Given the description of an element on the screen output the (x, y) to click on. 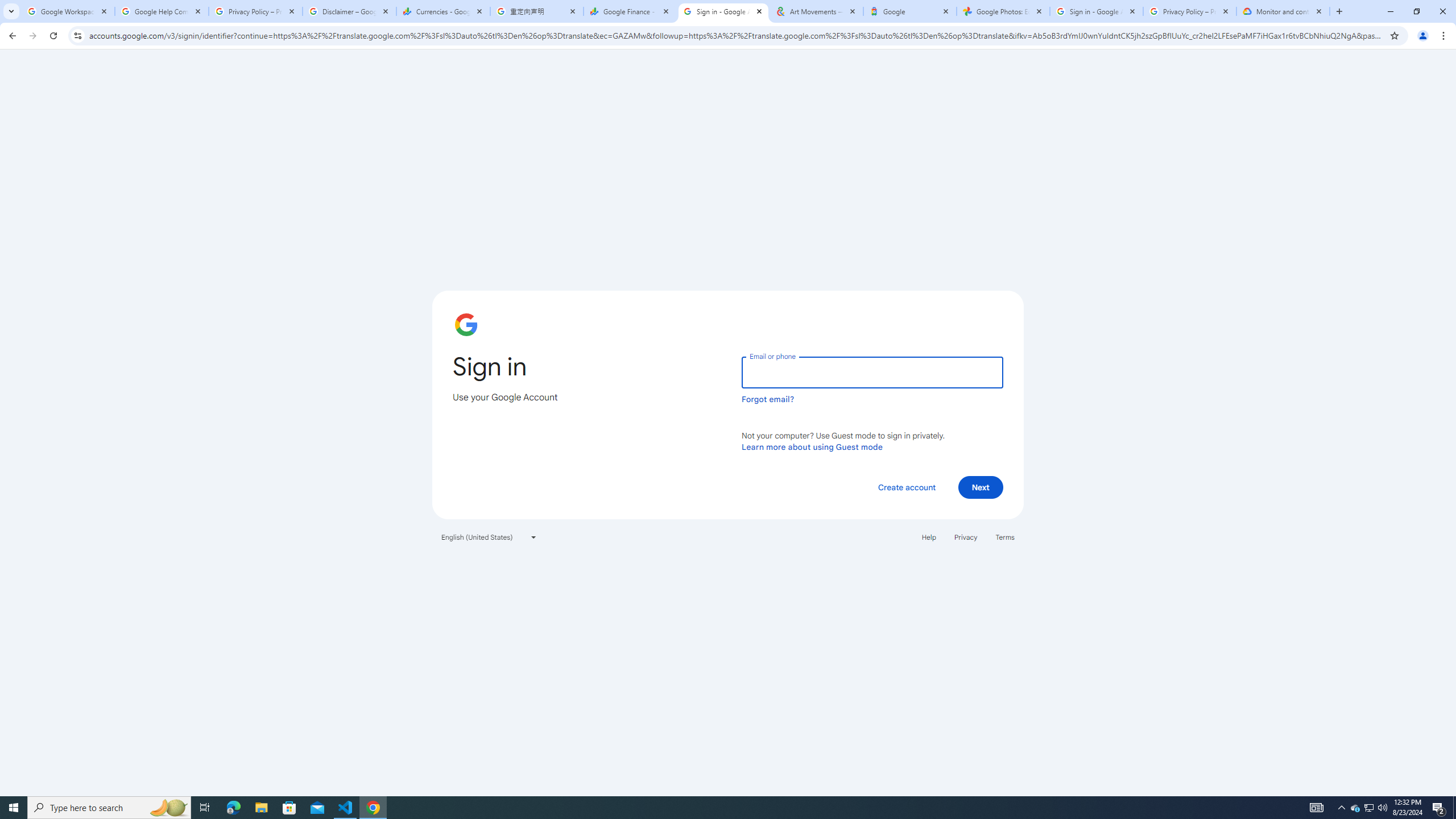
Account (59, 722)
Get Add-ins (59, 286)
Options (59, 753)
New (59, 118)
Transform (59, 567)
